Given the description of an element on the screen output the (x, y) to click on. 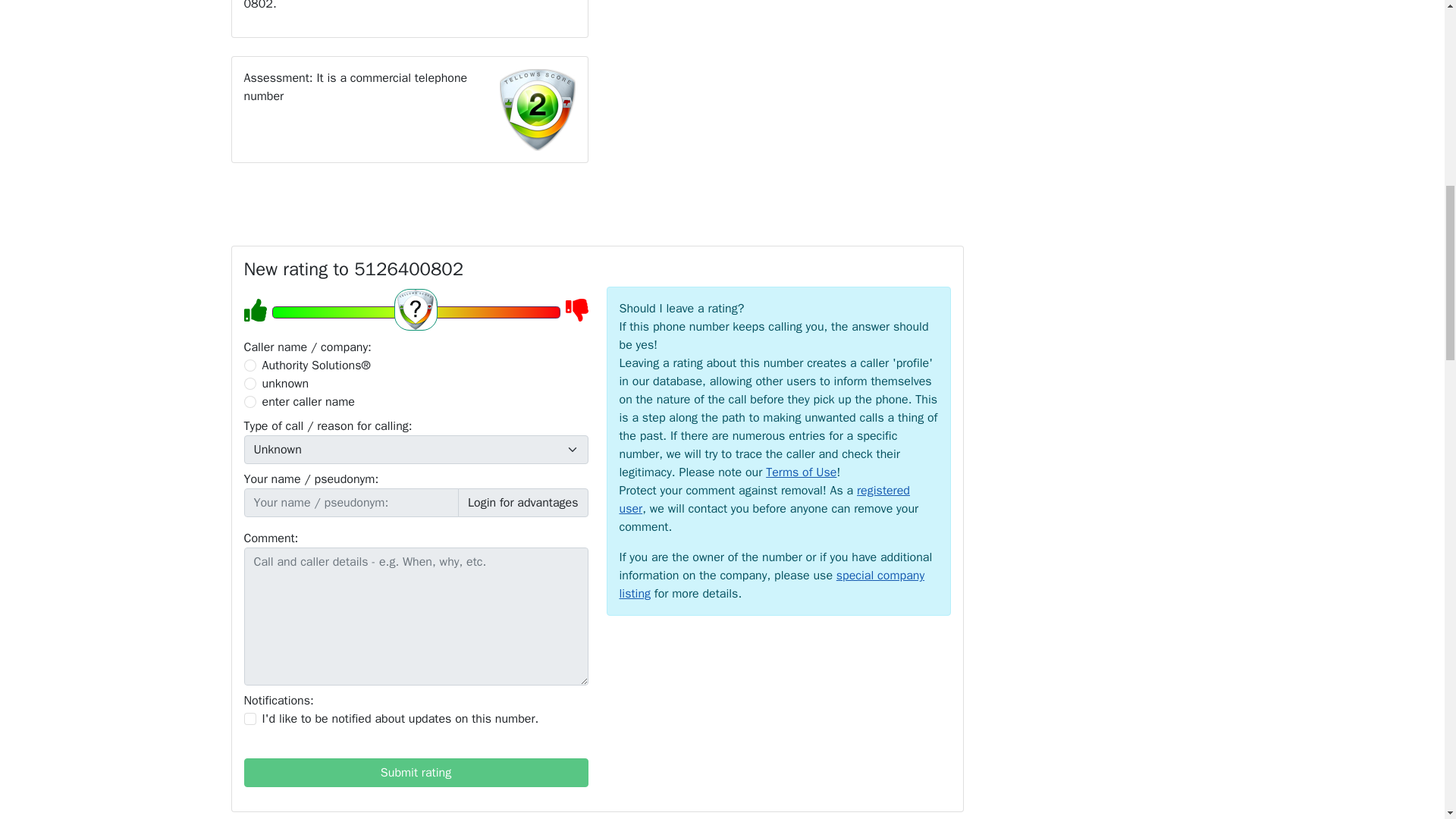
5 (414, 312)
0 (250, 365)
3 (250, 401)
Submit rating (416, 772)
registered user (763, 499)
Login for advantages (523, 502)
1 (250, 718)
special company listing (771, 584)
2 (250, 383)
Terms of Use (800, 472)
Submit rating (416, 772)
